Given the description of an element on the screen output the (x, y) to click on. 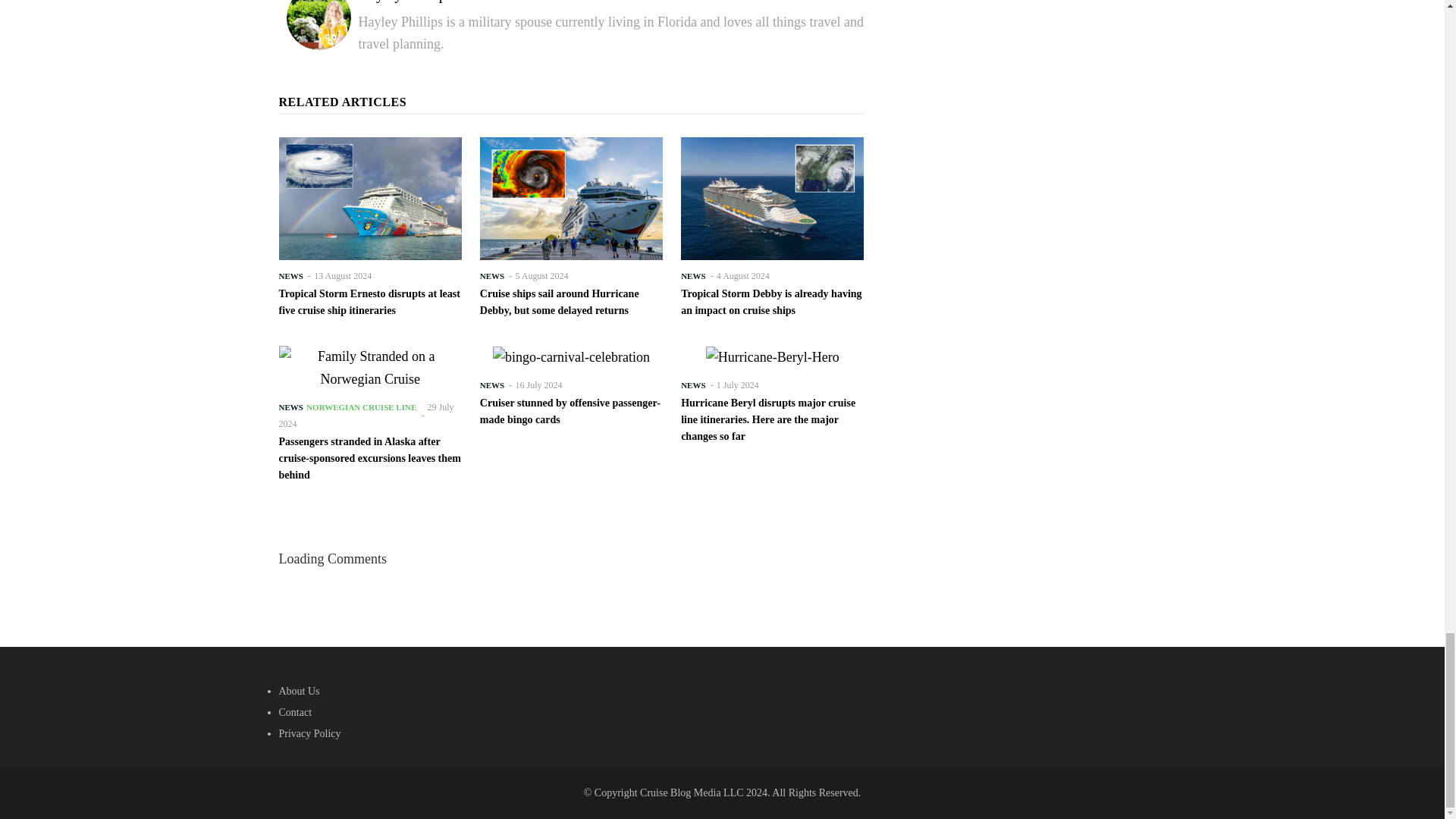
Hayley Phillips (405, 1)
NEWS (491, 275)
NEWS (290, 275)
